Given the description of an element on the screen output the (x, y) to click on. 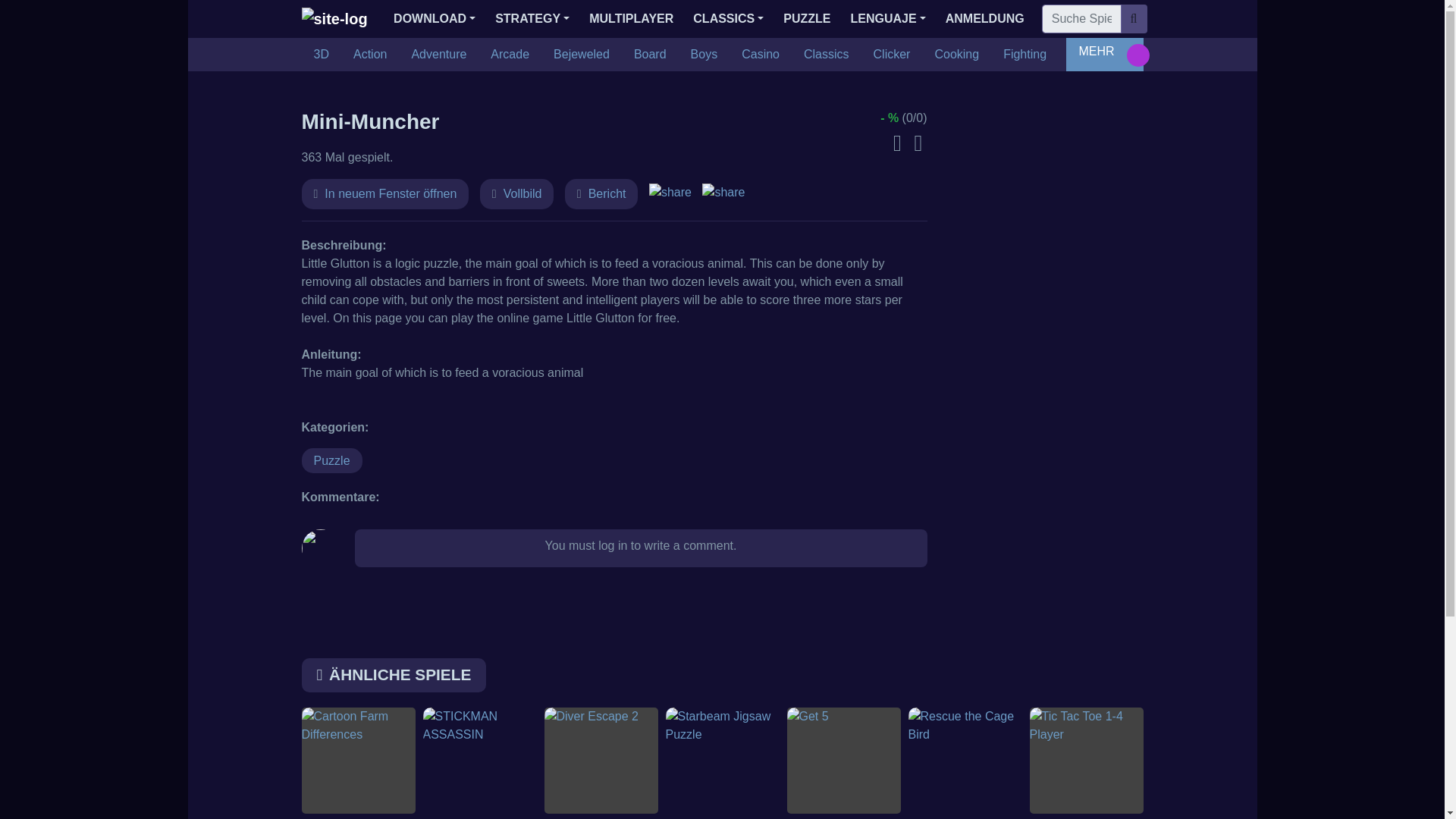
CLASSICS (728, 19)
STRATEGY (532, 19)
LENGUAJE (887, 19)
Fighting (1024, 54)
Bejeweled (581, 54)
Board (649, 54)
Arcade (510, 54)
Cooking (956, 54)
DOWNLOAD (434, 19)
Classics (826, 54)
